Given the description of an element on the screen output the (x, y) to click on. 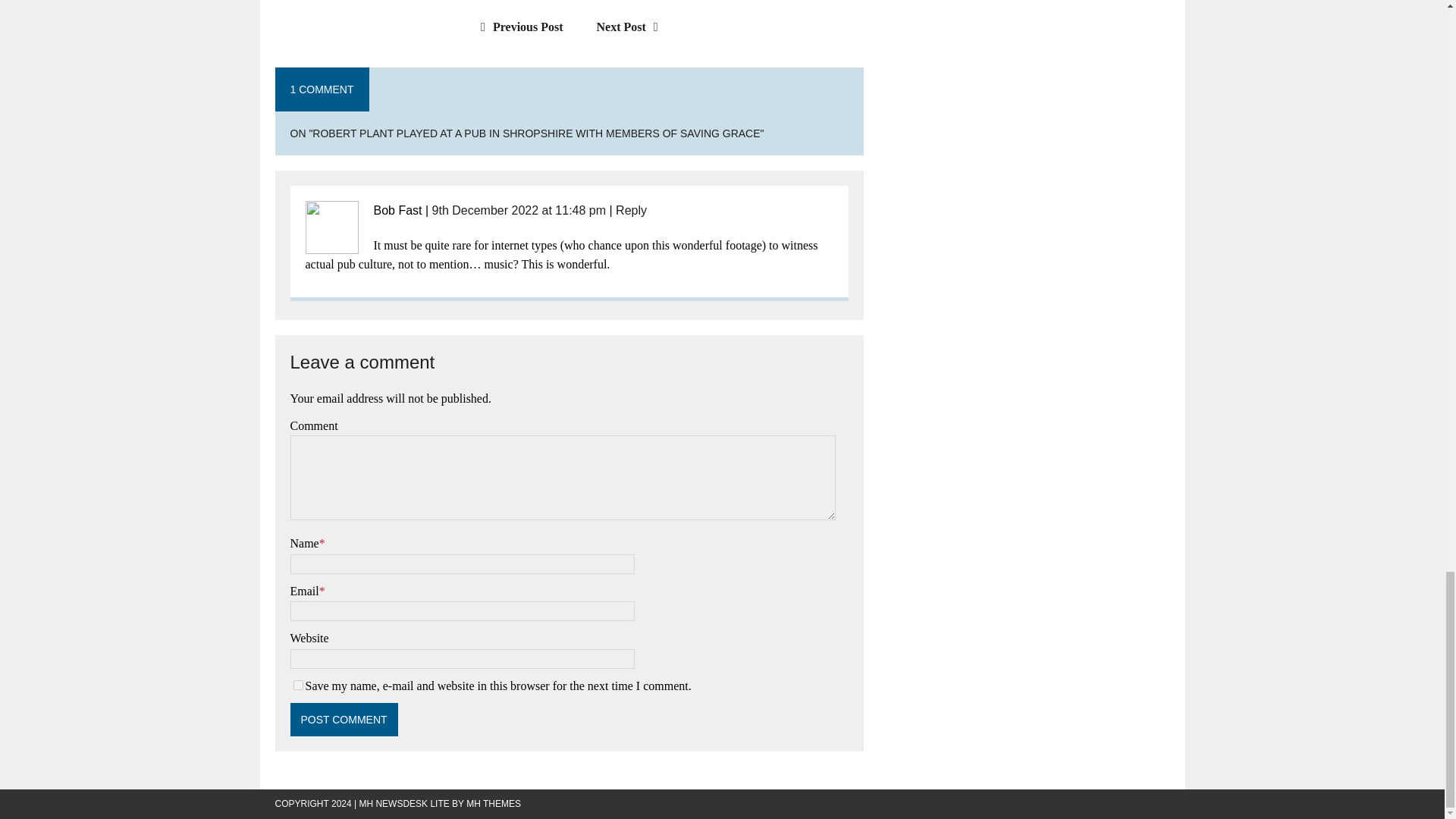
Reply (630, 210)
Post Comment (343, 719)
9th December 2022 at 11:48 pm (518, 210)
yes (297, 685)
Previous Post (517, 26)
Next Post (630, 26)
